Given the description of an element on the screen output the (x, y) to click on. 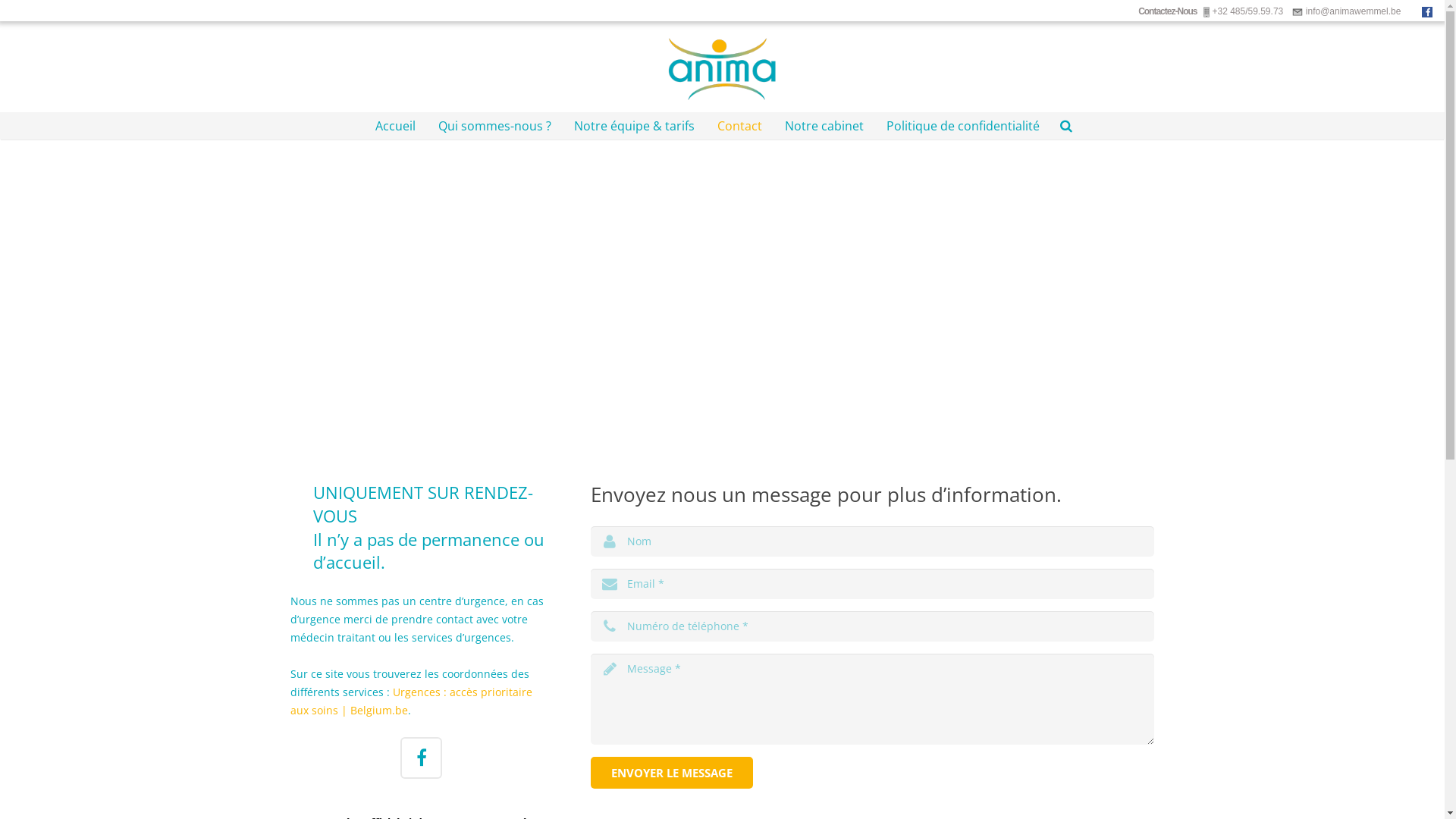
Accueil Element type: text (395, 125)
ENVOYER LE MESSAGE Element type: text (671, 772)
Qui sommes-nous ? Element type: text (493, 125)
info@animawemmel.be Element type: text (1347, 11)
Notre cabinet Element type: text (824, 125)
Contact Element type: text (738, 125)
Facebook Element type: hover (1426, 11)
+32 485/59.59.73 Element type: text (1242, 11)
